Given the description of an element on the screen output the (x, y) to click on. 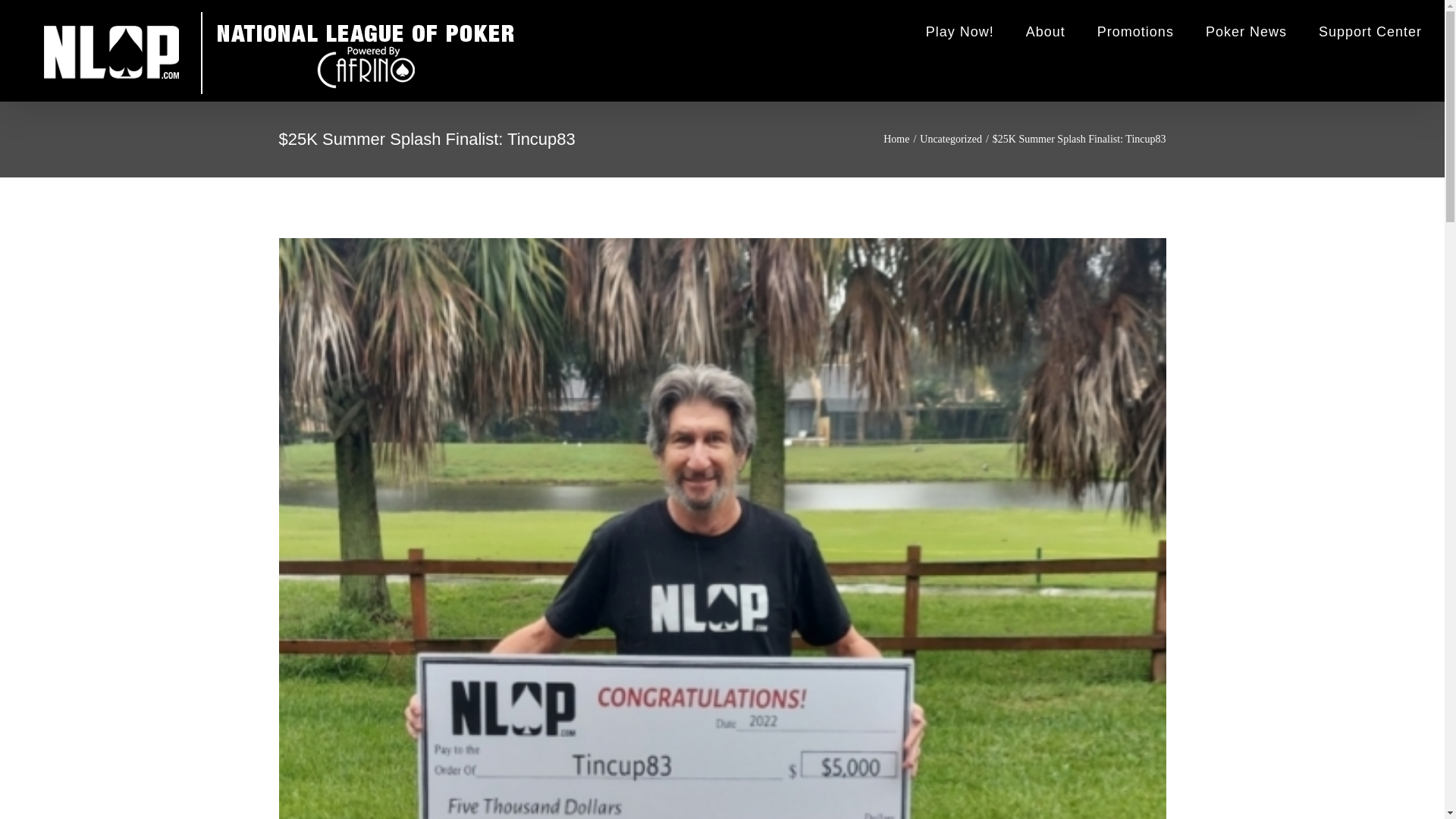
Promotions (1135, 31)
Support Center (1370, 31)
Play Now! (960, 31)
Poker News (1246, 31)
